Given the description of an element on the screen output the (x, y) to click on. 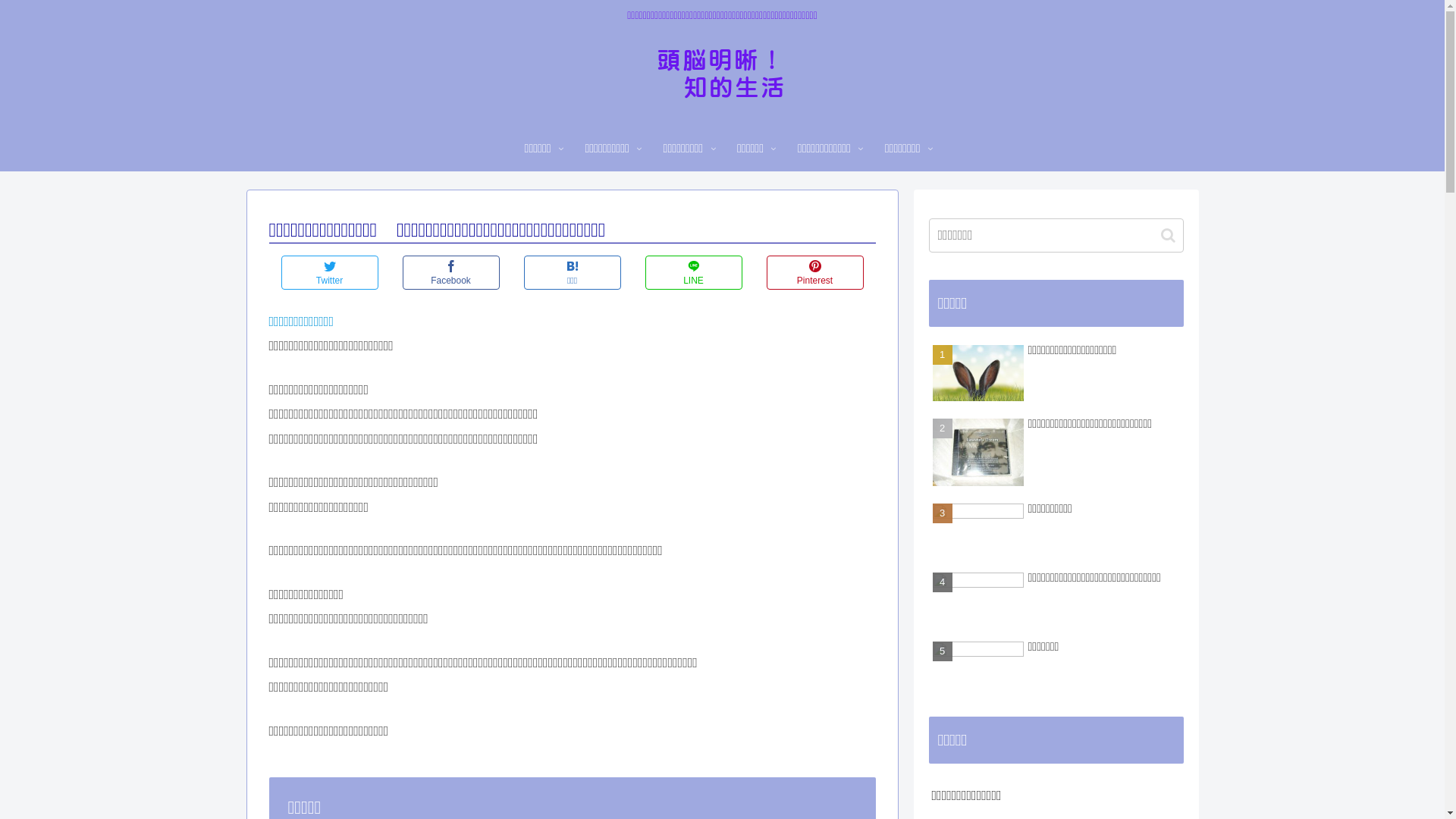
Twitter Element type: text (328, 272)
Facebook Element type: text (449, 272)
LINE Element type: text (692, 272)
Pinterest Element type: text (813, 272)
